Given the description of an element on the screen output the (x, y) to click on. 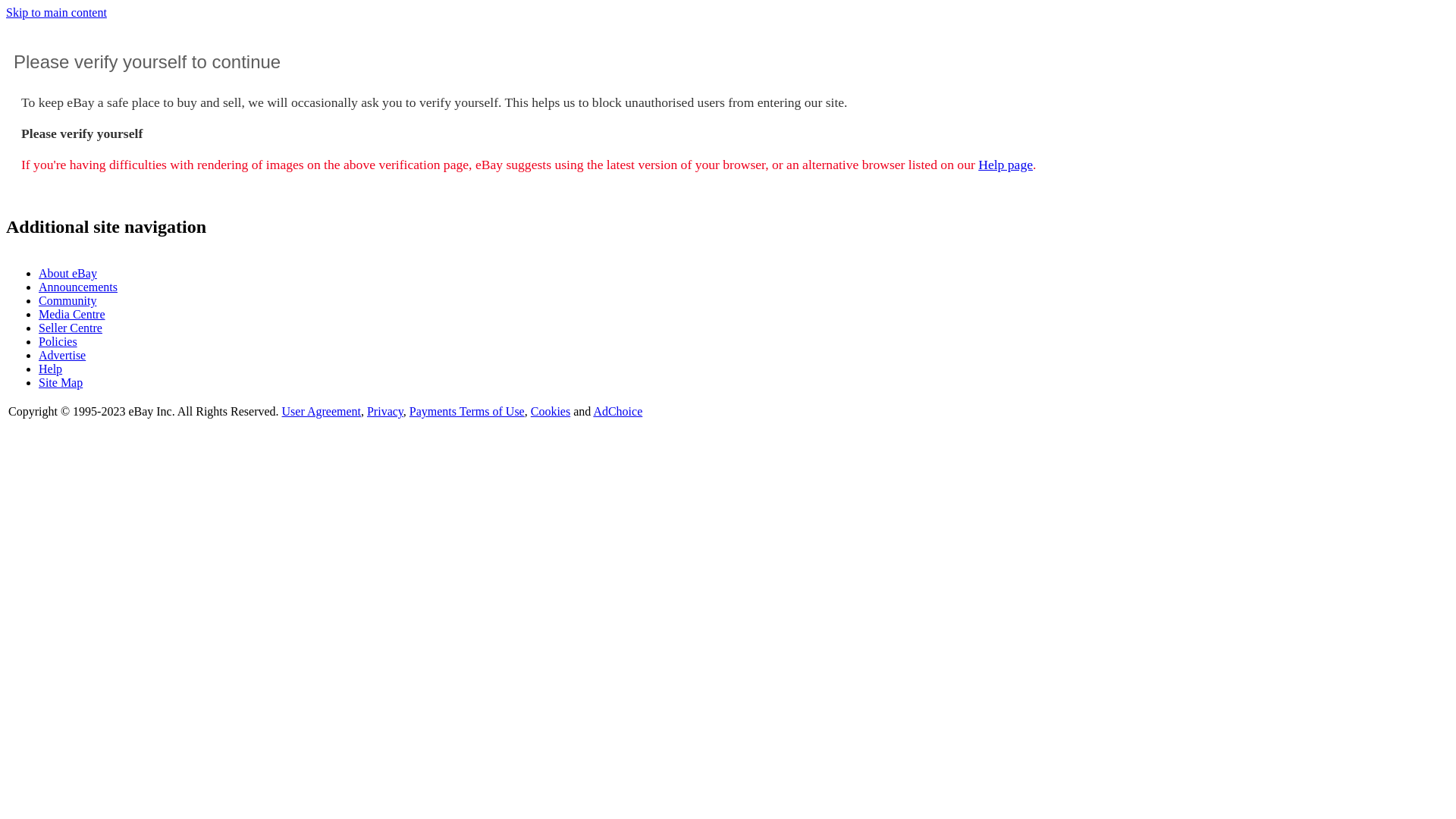
Cookies Element type: text (550, 410)
Site Map Element type: text (60, 382)
Policies Element type: text (57, 341)
Announcements Element type: text (77, 286)
Payments Terms of Use Element type: text (466, 410)
Advertise Element type: text (61, 354)
Community Element type: text (67, 300)
Privacy Element type: text (385, 410)
AdChoice Element type: text (617, 410)
About eBay Element type: text (67, 272)
Seller Centre Element type: text (70, 327)
Skip to main content Element type: text (56, 12)
User Agreement Element type: text (321, 410)
Help page Element type: text (1005, 164)
Help Element type: text (50, 368)
Media Centre Element type: text (71, 313)
